Given the description of an element on the screen output the (x, y) to click on. 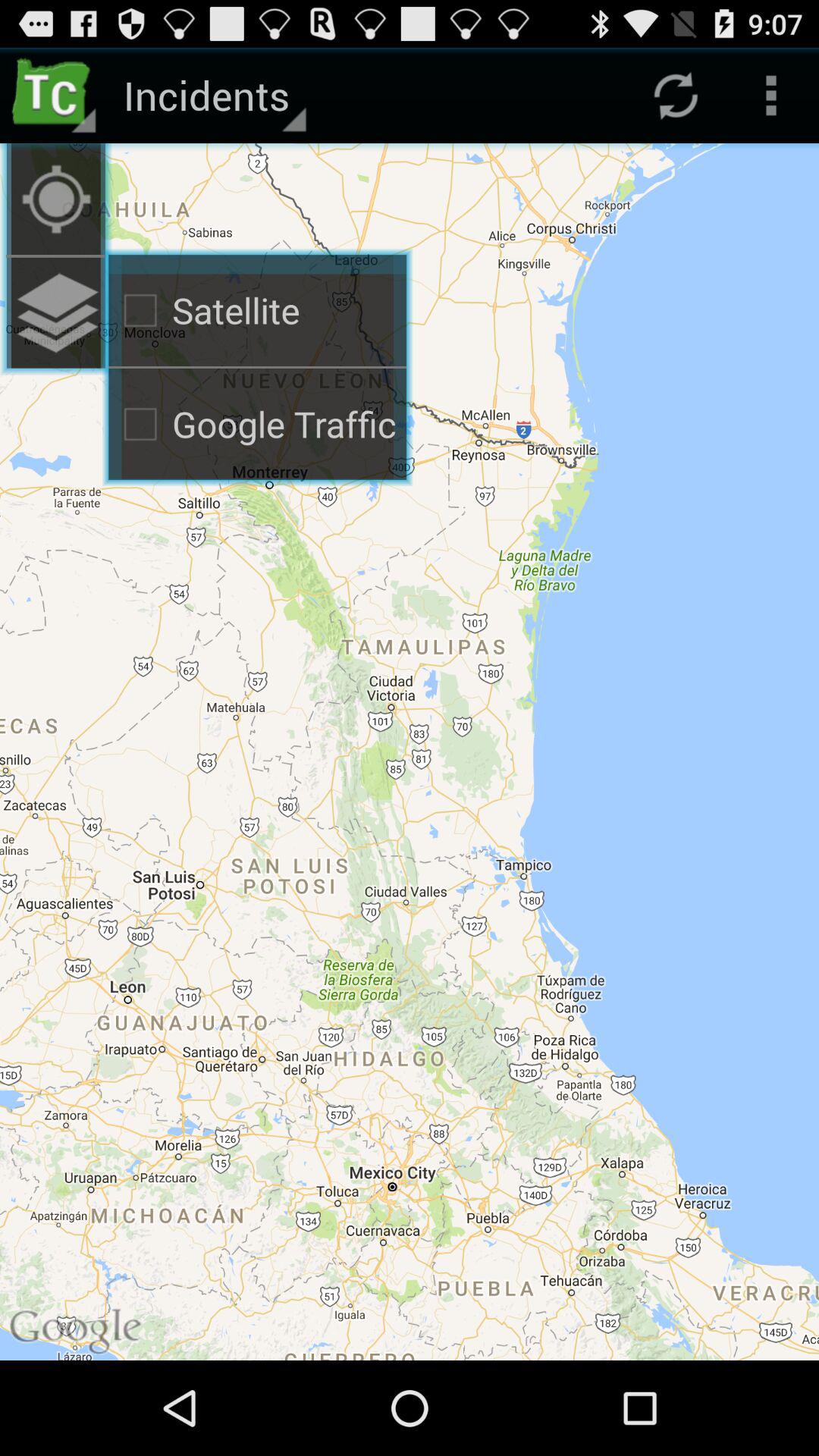
choose incidents app (212, 95)
